Given the description of an element on the screen output the (x, y) to click on. 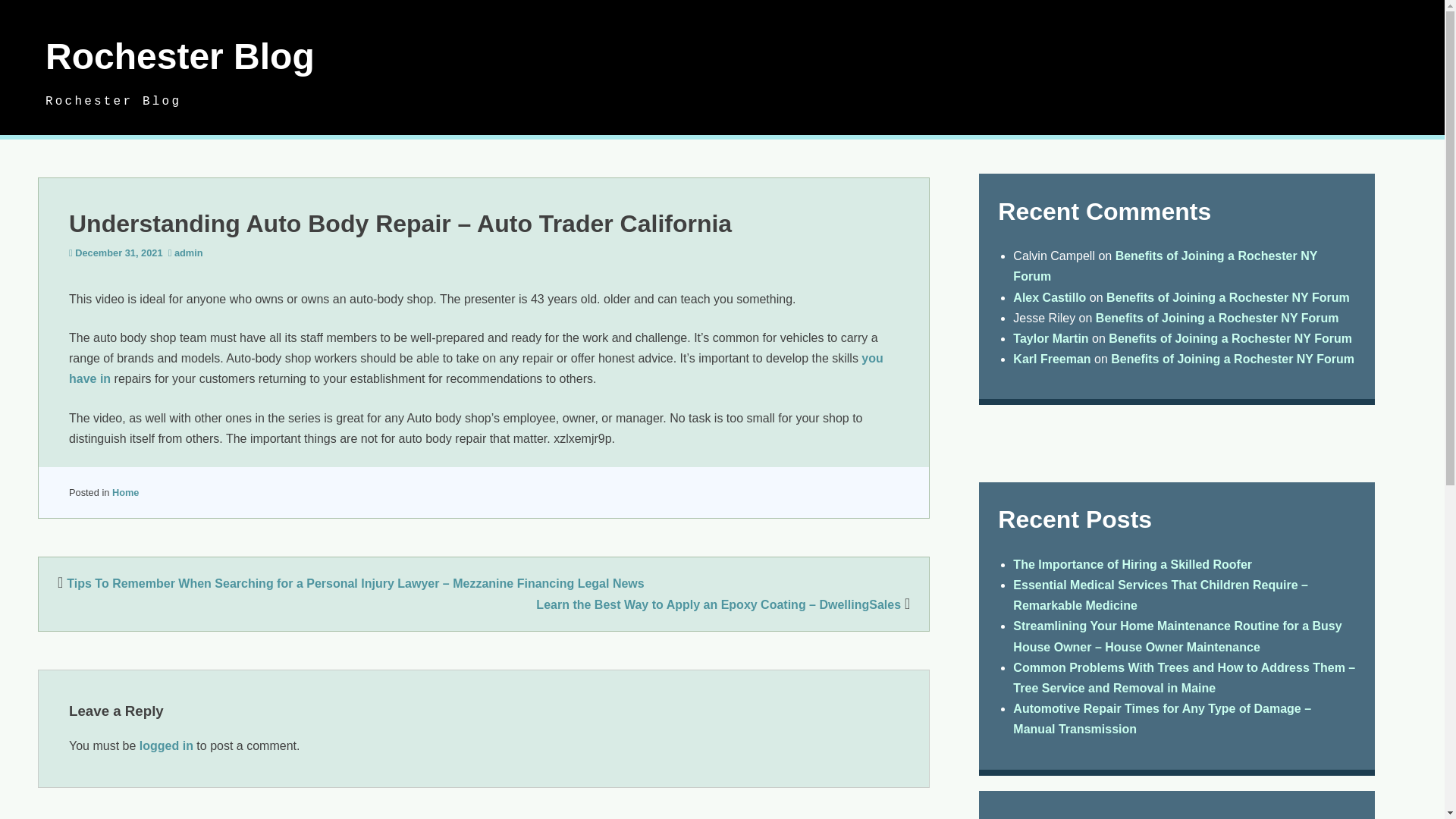
Home (125, 491)
Benefits of Joining a Rochester NY Forum (1165, 265)
Alex Castillo (1049, 297)
logged in (166, 745)
Benefits of Joining a Rochester NY Forum (1230, 338)
The Importance of Hiring a Skilled Roofer (1132, 563)
Karl Freeman (1051, 358)
Taylor Martin (1050, 338)
December 31, 2021 (118, 252)
Benefits of Joining a Rochester NY Forum (1232, 358)
